Given the description of an element on the screen output the (x, y) to click on. 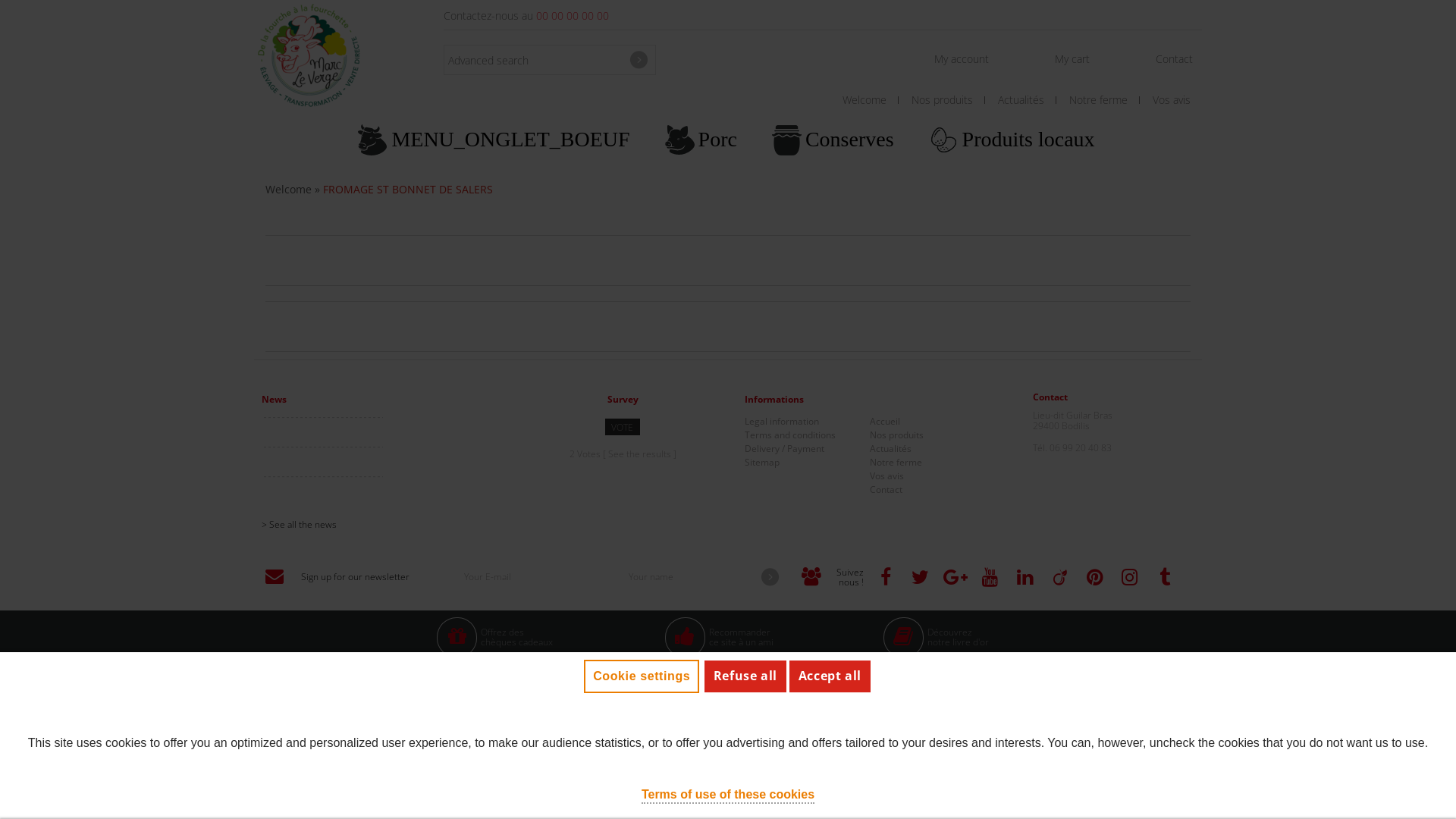
Contact Element type: text (1173, 59)
youtube Element type: text (989, 577)
Vos avis Element type: text (886, 475)
Welcome Element type: text (870, 99)
Terms and conditions Element type: text (789, 434)
Accept all Element type: text (829, 675)
google Element type: text (954, 577)
twitter Element type: text (919, 577)
Notre ferme Element type: text (1104, 99)
Delivery / Payment Element type: text (784, 448)
linkedin Element type: text (1024, 577)
See all the news Element type: text (381, 524)
viadeo Element type: text (1059, 577)
Produits locaux Element type: text (1013, 139)
Offrez des Element type: text (502, 631)
Sitemap Element type: text (761, 461)
notre livre d'or Element type: text (957, 641)
Nos produits Element type: text (896, 434)
Vos avis Element type: text (1176, 99)
instagram Element type: text (1129, 577)
Porc Element type: text (702, 139)
Contact Element type: text (885, 489)
Recommander Element type: text (739, 631)
Refuse all Element type: text (744, 675)
Welcome Element type: text (288, 189)
MENU_ONGLET_BOEUF Element type: text (495, 139)
Cookie settings Element type: text (641, 676)
Nos produits Element type: text (948, 99)
Terms of use of these cookies Element type: text (727, 793)
VOTE Element type: text (622, 426)
Notre ferme Element type: text (895, 461)
My account Element type: text (961, 59)
Accueil Element type: text (884, 420)
See the results Element type: text (639, 453)
pinterest Element type: text (1094, 577)
facebook Element type: text (885, 577)
My cart Element type: text (1071, 59)
tumblr Element type: text (1164, 577)
Conserves Element type: text (834, 139)
Legal information Element type: text (781, 420)
Direct et Proche Element type: text (1108, 695)
 GO  Element type: hover (638, 59)
